Given the description of an element on the screen output the (x, y) to click on. 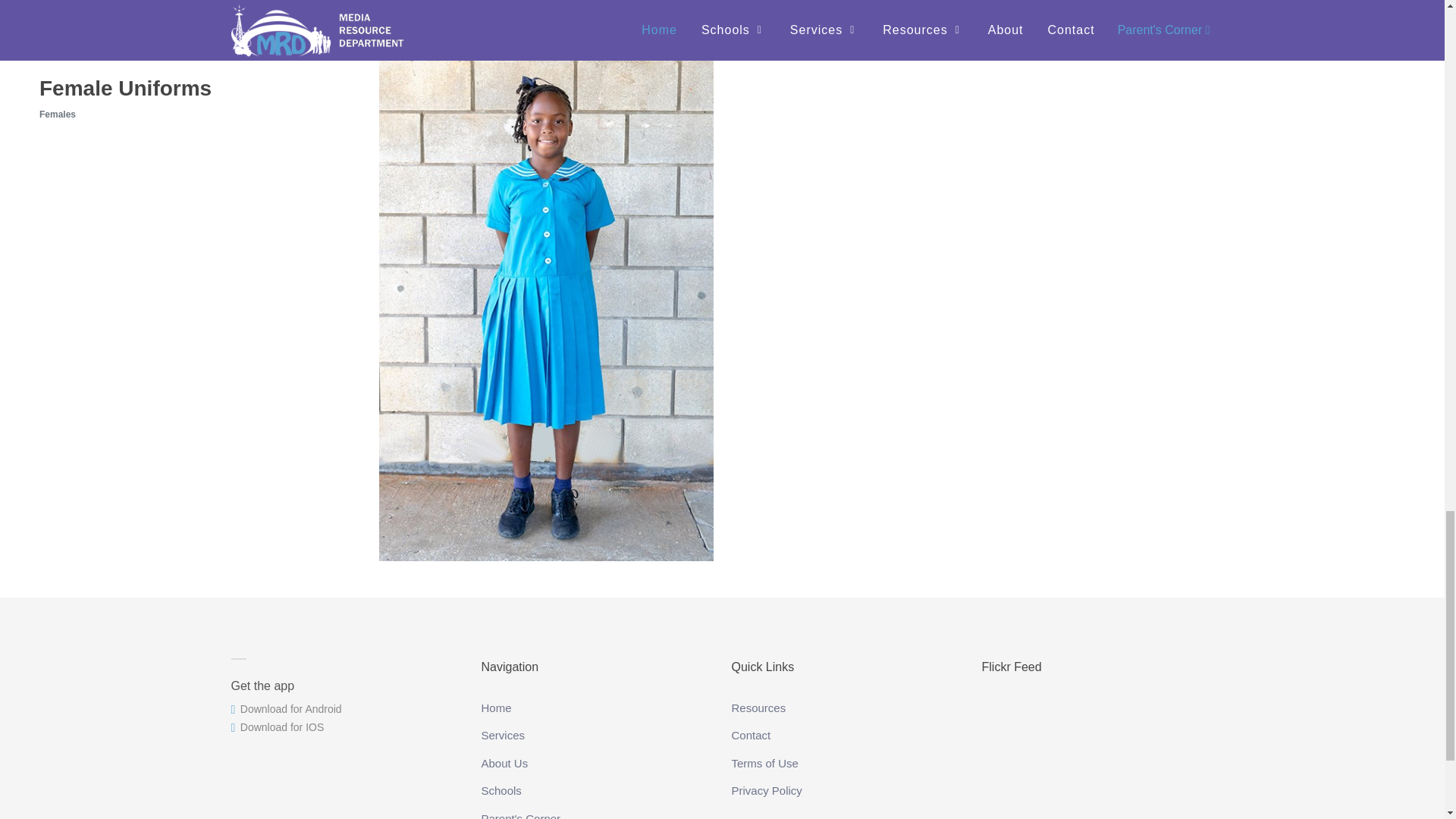
Home (496, 706)
Services (503, 733)
Download for Android (285, 707)
Download for IOS (276, 726)
